Given the description of an element on the screen output the (x, y) to click on. 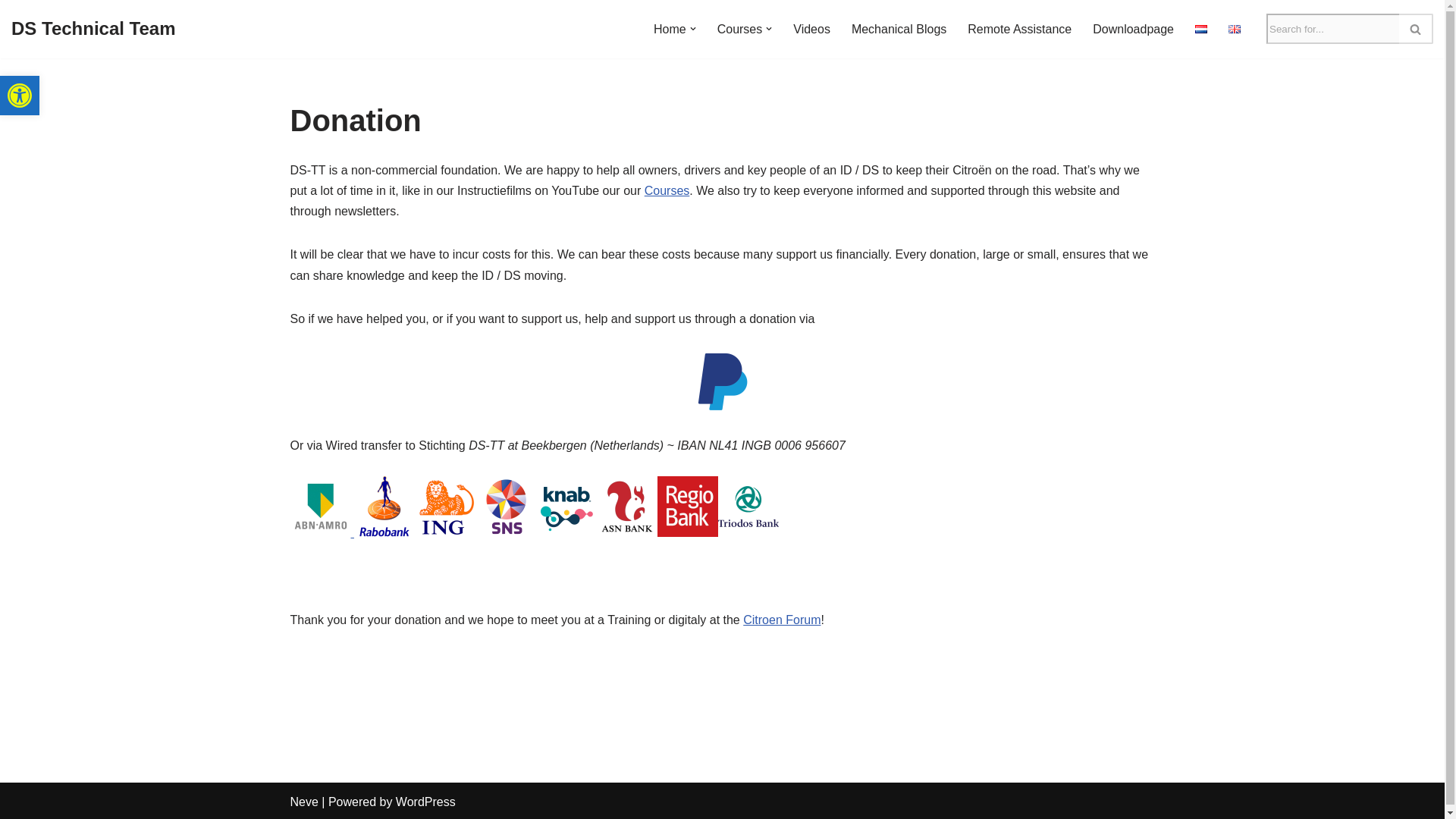
Remote Assistance (1019, 28)
DS Technical Team (93, 29)
Home (669, 28)
Courses (739, 28)
Toegankelijkheid (19, 95)
Mechanical Blogs (898, 28)
Videos (811, 28)
Skip to content (11, 31)
Downloadpage (19, 95)
